Given the description of an element on the screen output the (x, y) to click on. 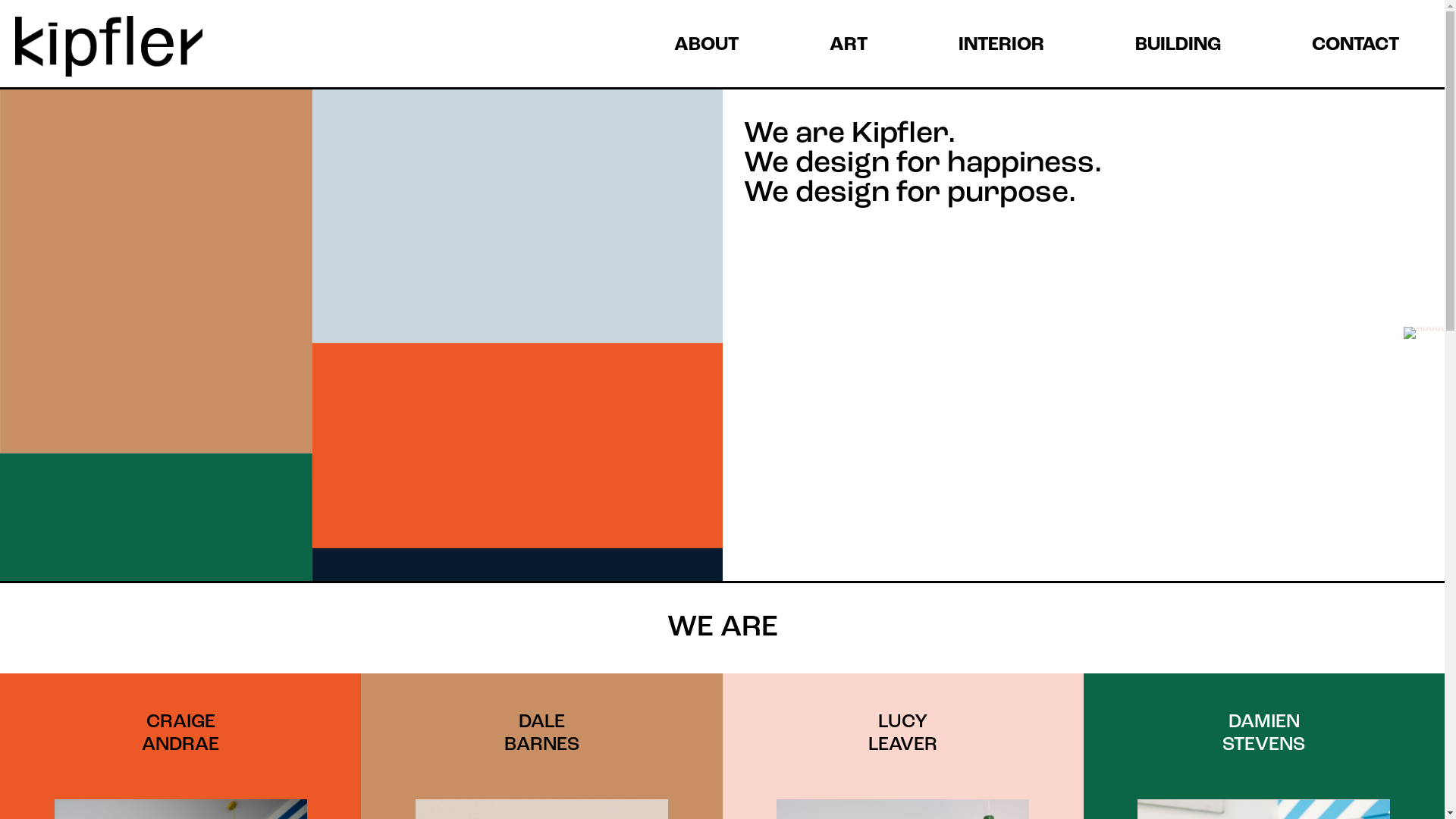
CONTACT Element type: text (1355, 39)
ABOUT Element type: text (706, 39)
Kipfler Element type: hover (108, 43)
BUILDING Element type: text (1177, 39)
ART Element type: text (848, 39)
INTERIOR Element type: text (1000, 39)
